Given the description of an element on the screen output the (x, y) to click on. 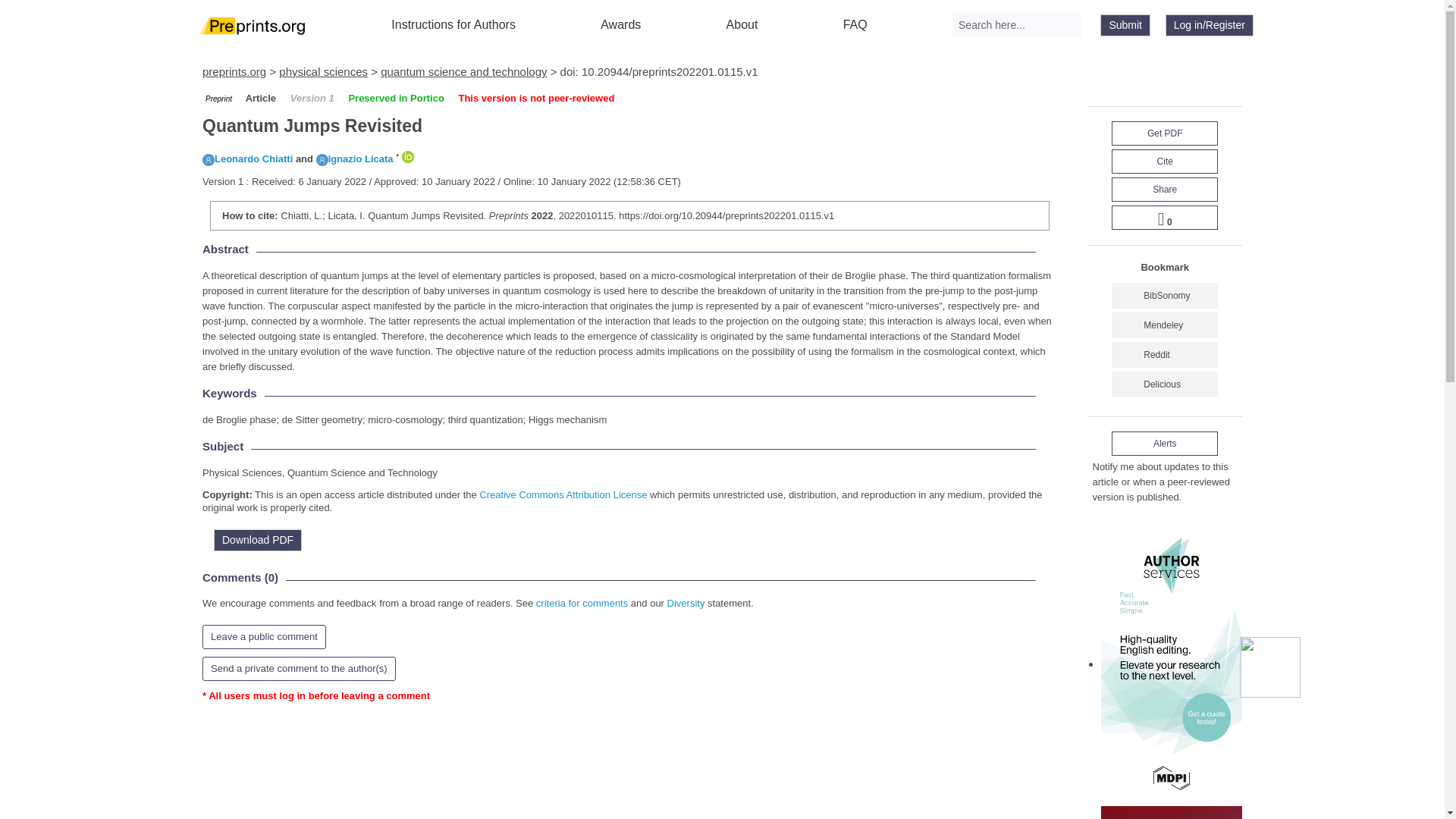
ORCID (407, 156)
Instructions for Authors (453, 24)
Ignazio Licata (354, 158)
physical sciences (323, 71)
Leonardo Chiatti (247, 158)
preprints.org (234, 71)
quantum science and technology (463, 71)
Submit (1125, 25)
Creative Commons Attribution License (562, 494)
Download PDF (257, 540)
